Given the description of an element on the screen output the (x, y) to click on. 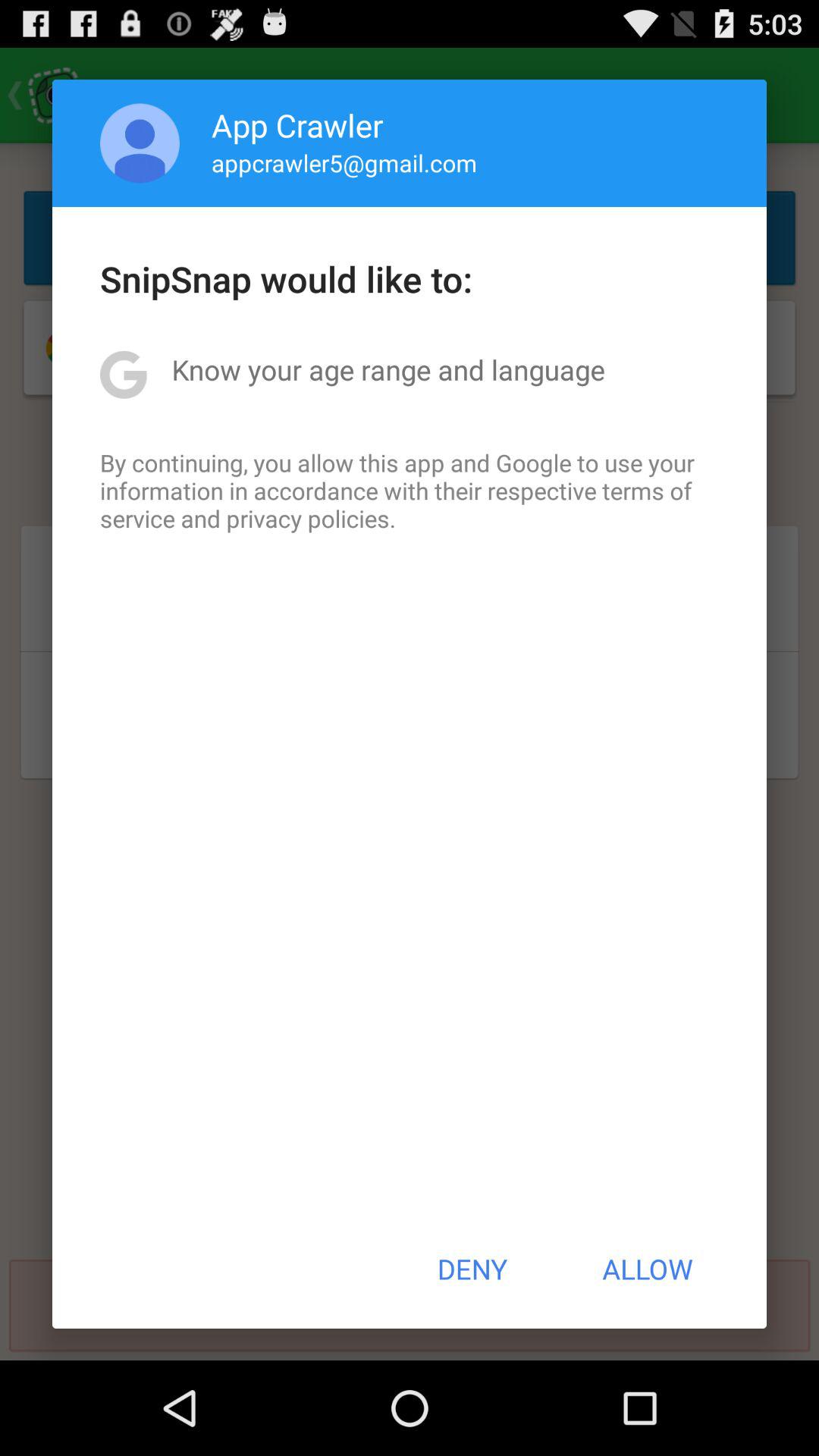
click the item below snipsnap would like app (388, 369)
